Given the description of an element on the screen output the (x, y) to click on. 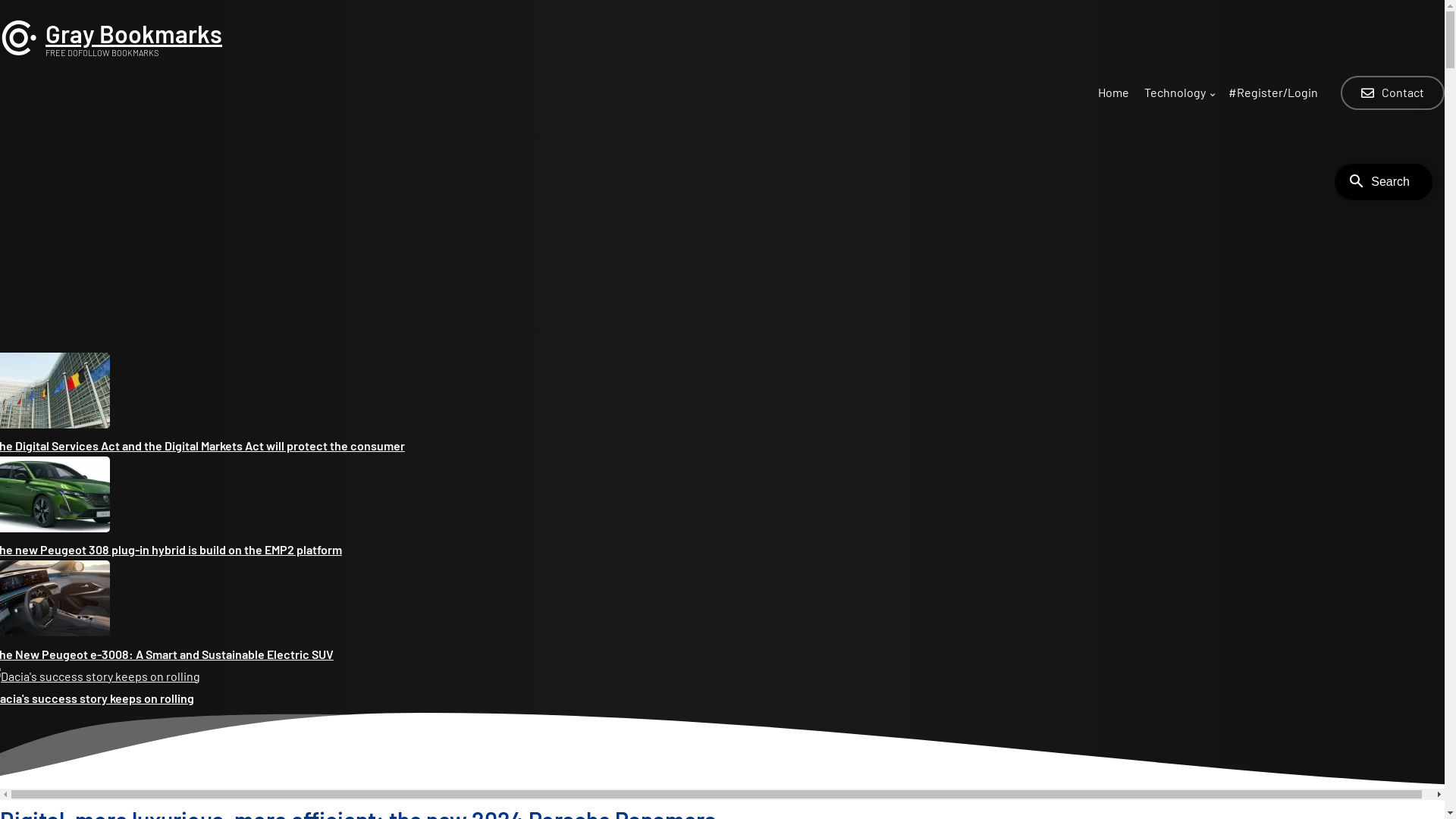
Home Element type: text (1113, 96)
#Register/Login Element type: text (1272, 96)
Contact Element type: text (1392, 92)
Home Element type: hover (18, 51)
Gray Bookmarks Element type: text (133, 32)
Skip to main content Element type: text (0, 0)
